Given the description of an element on the screen output the (x, y) to click on. 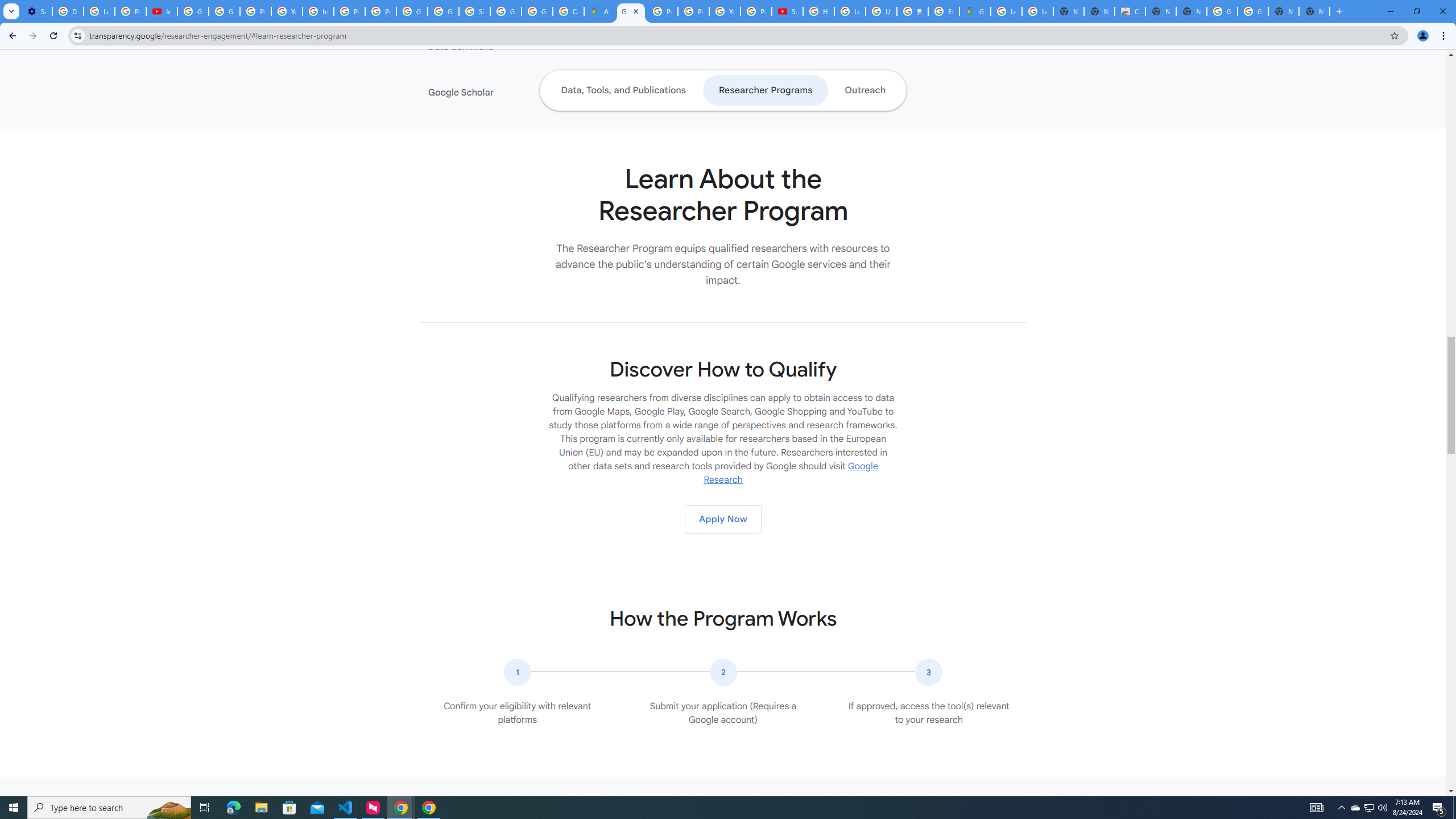
Settings - Performance (36, 11)
The number two in a circular icon. (722, 672)
